Given the description of an element on the screen output the (x, y) to click on. 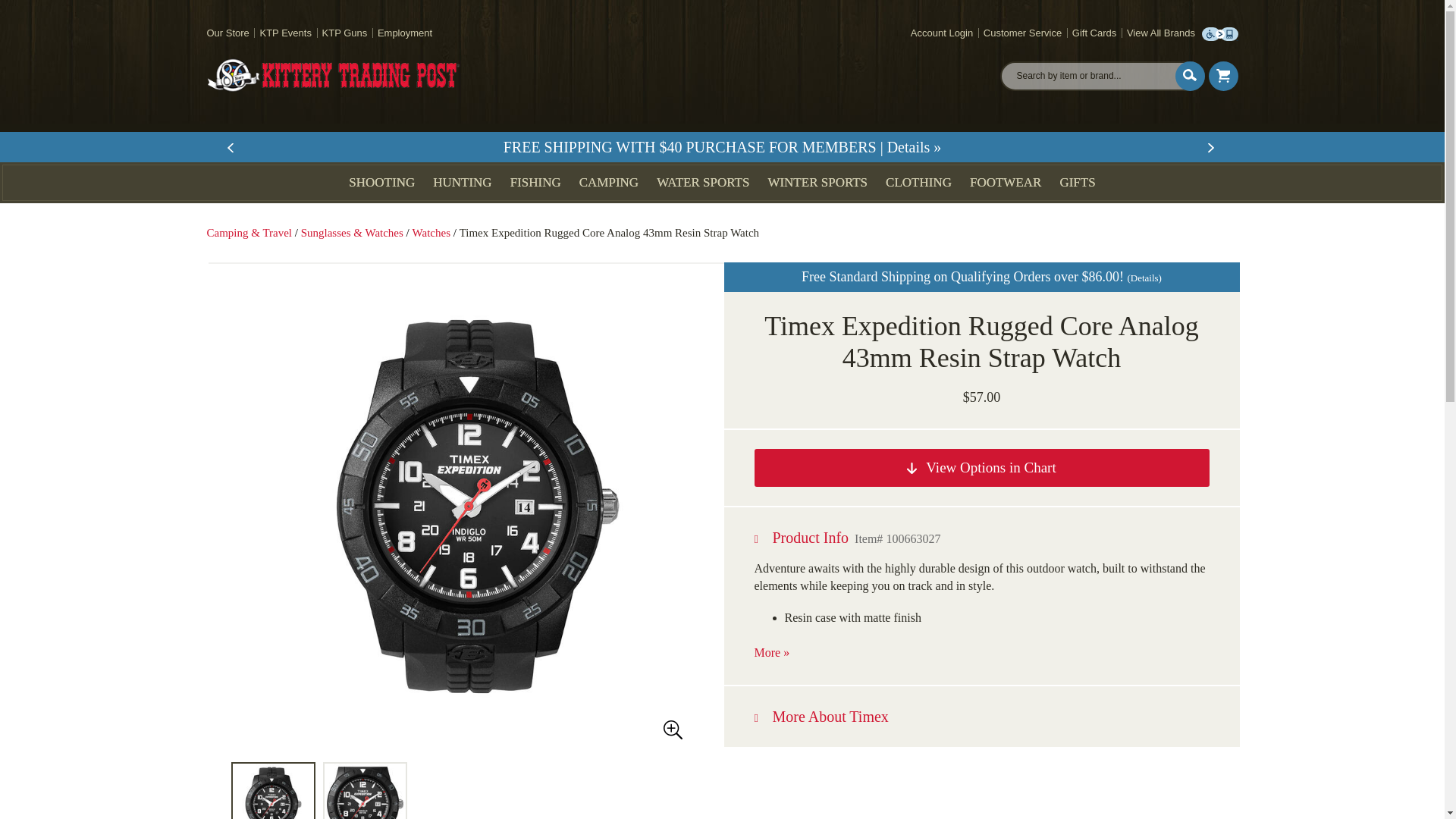
Go to Watches (432, 232)
SHOOTING (381, 182)
FISHING (535, 182)
HUNTING (462, 182)
View Options in Chart (981, 467)
